Given the description of an element on the screen output the (x, y) to click on. 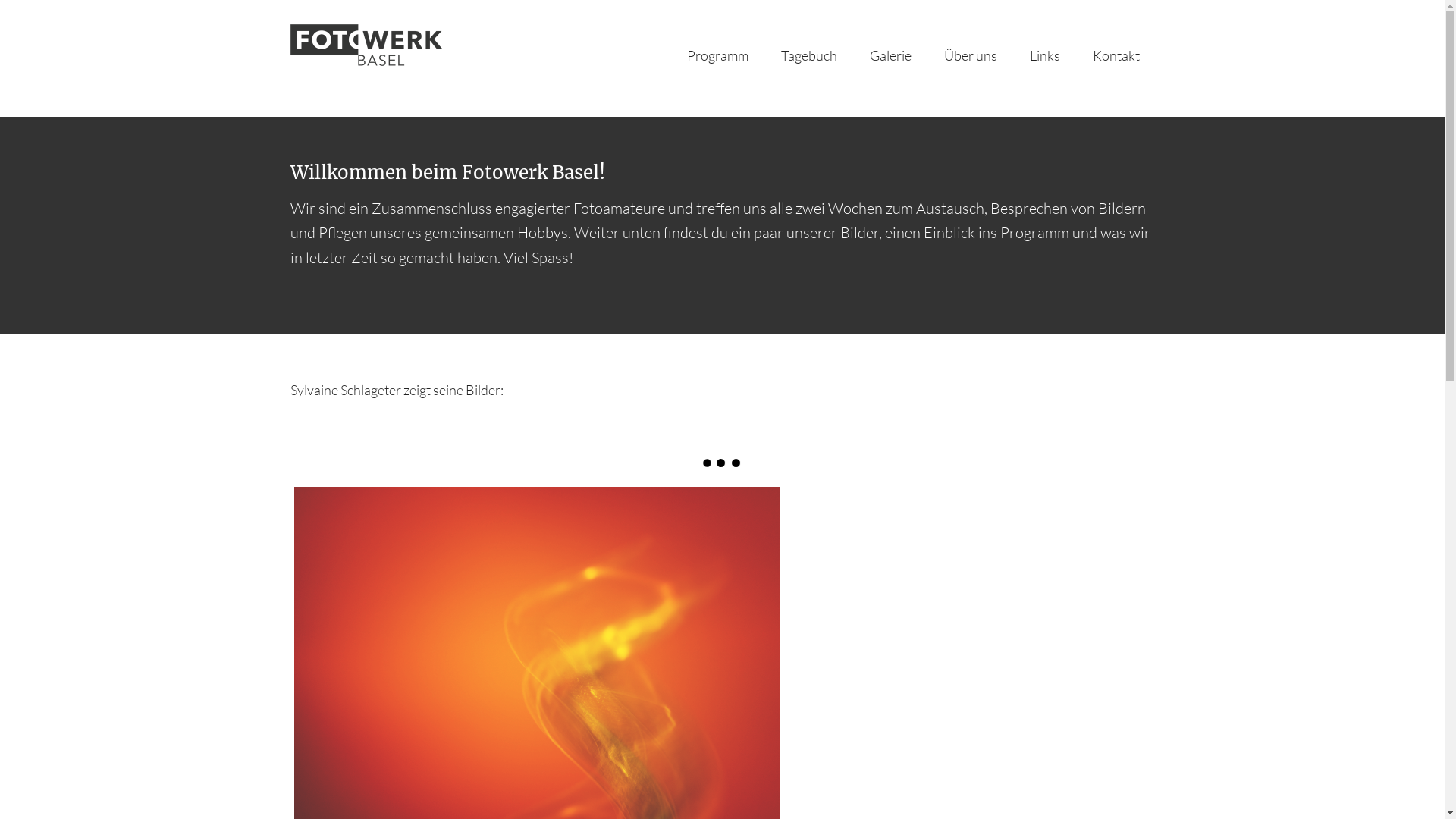
Tagebuch Element type: text (808, 55)
Galerie Element type: text (889, 55)
Kontakt Element type: text (1115, 55)
fotowerk basel Element type: text (440, 58)
Programm Element type: text (717, 55)
Links Element type: text (1044, 55)
